Given the description of an element on the screen output the (x, y) to click on. 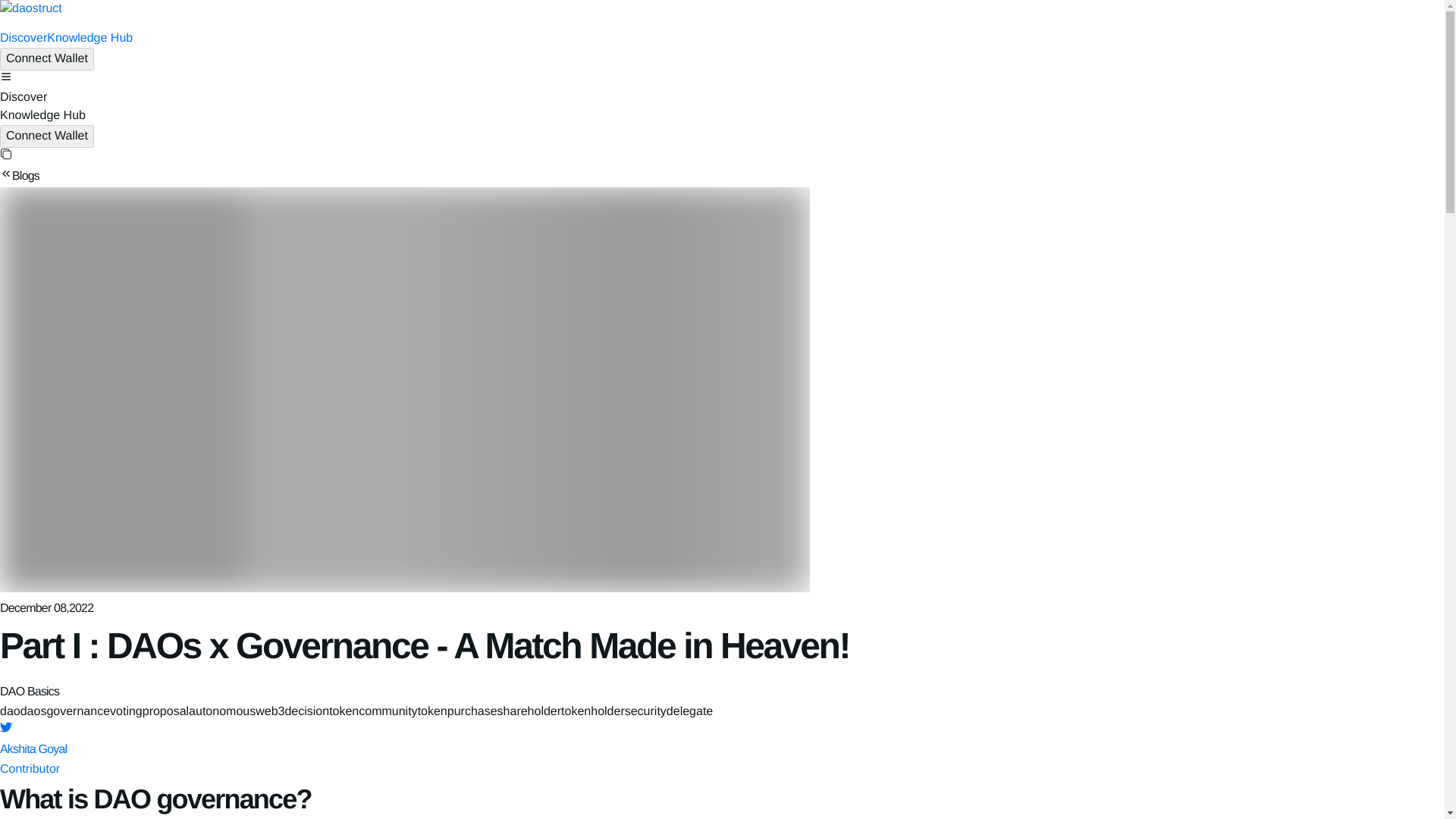
Knowledge Hub (89, 38)
Discover (23, 38)
Connect Wallet (47, 58)
Connect Wallet (47, 136)
